Given the description of an element on the screen output the (x, y) to click on. 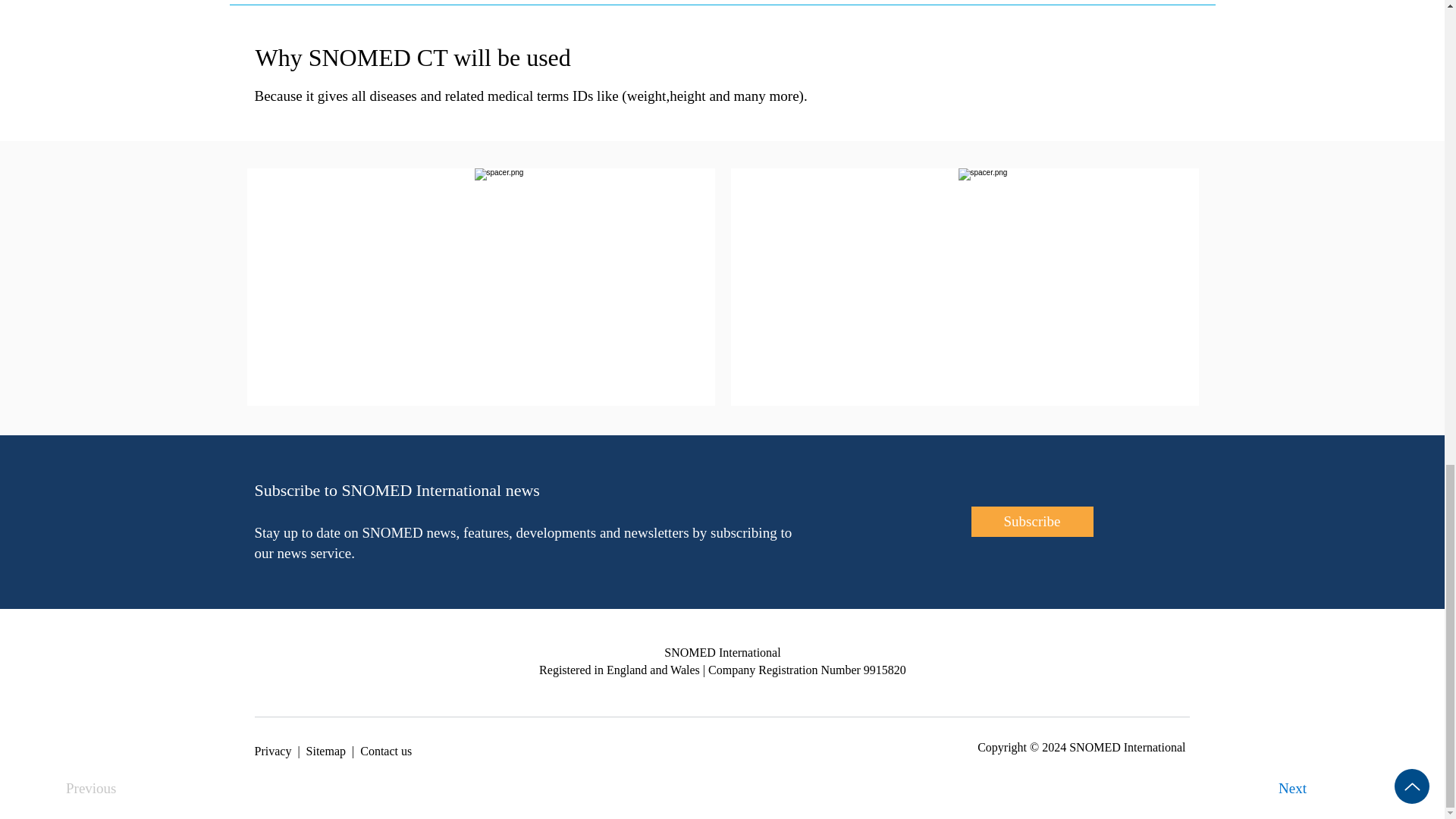
Learn more (849, 365)
Learn more (365, 365)
Subscribe (1032, 521)
Privacy (273, 750)
